Given the description of an element on the screen output the (x, y) to click on. 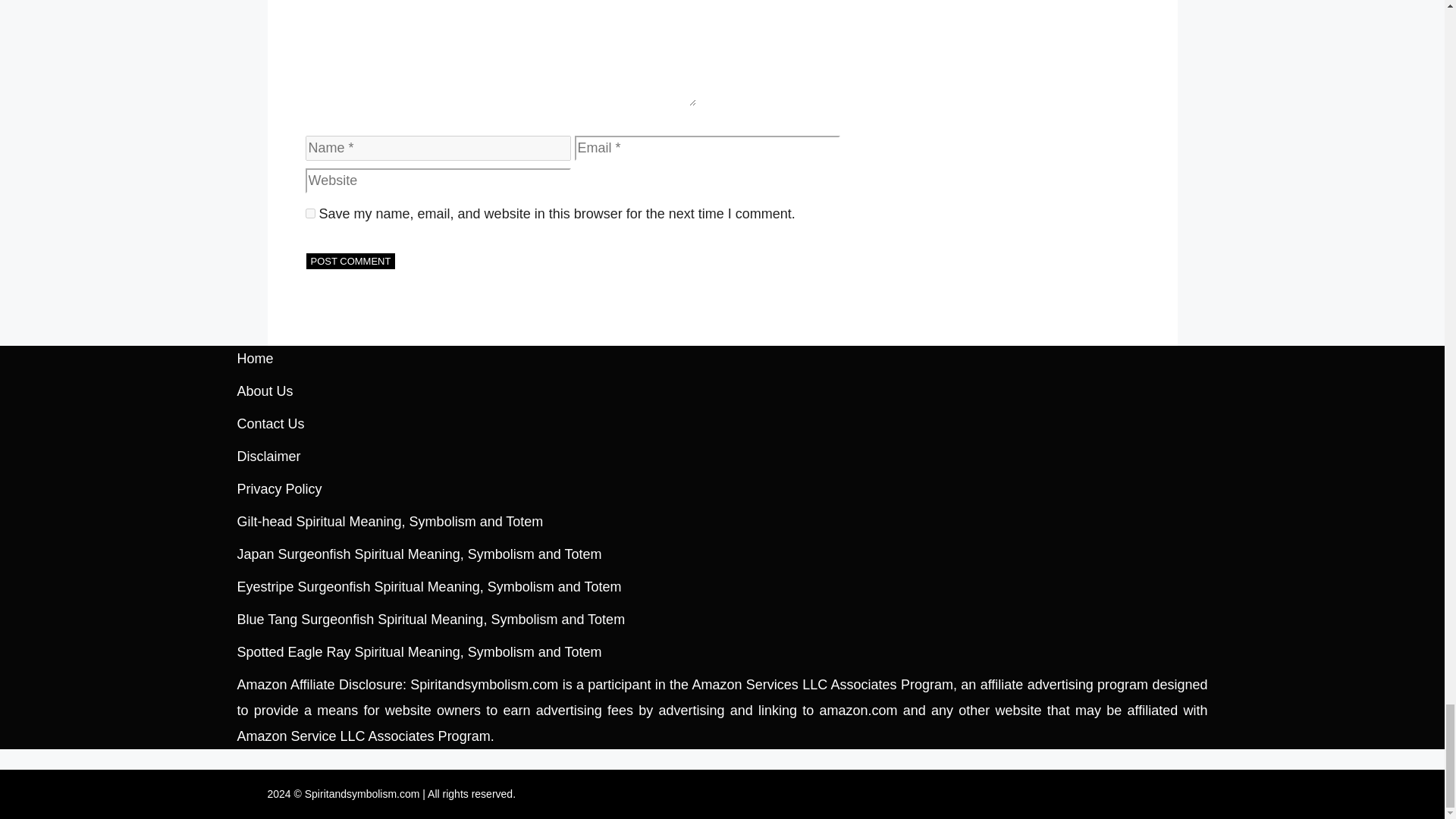
Privacy Policy (278, 488)
Post Comment (350, 261)
Home (254, 358)
Disclaimer (267, 456)
Post Comment (350, 261)
yes (309, 213)
About Us (263, 391)
Contact Us (269, 423)
